Given the description of an element on the screen output the (x, y) to click on. 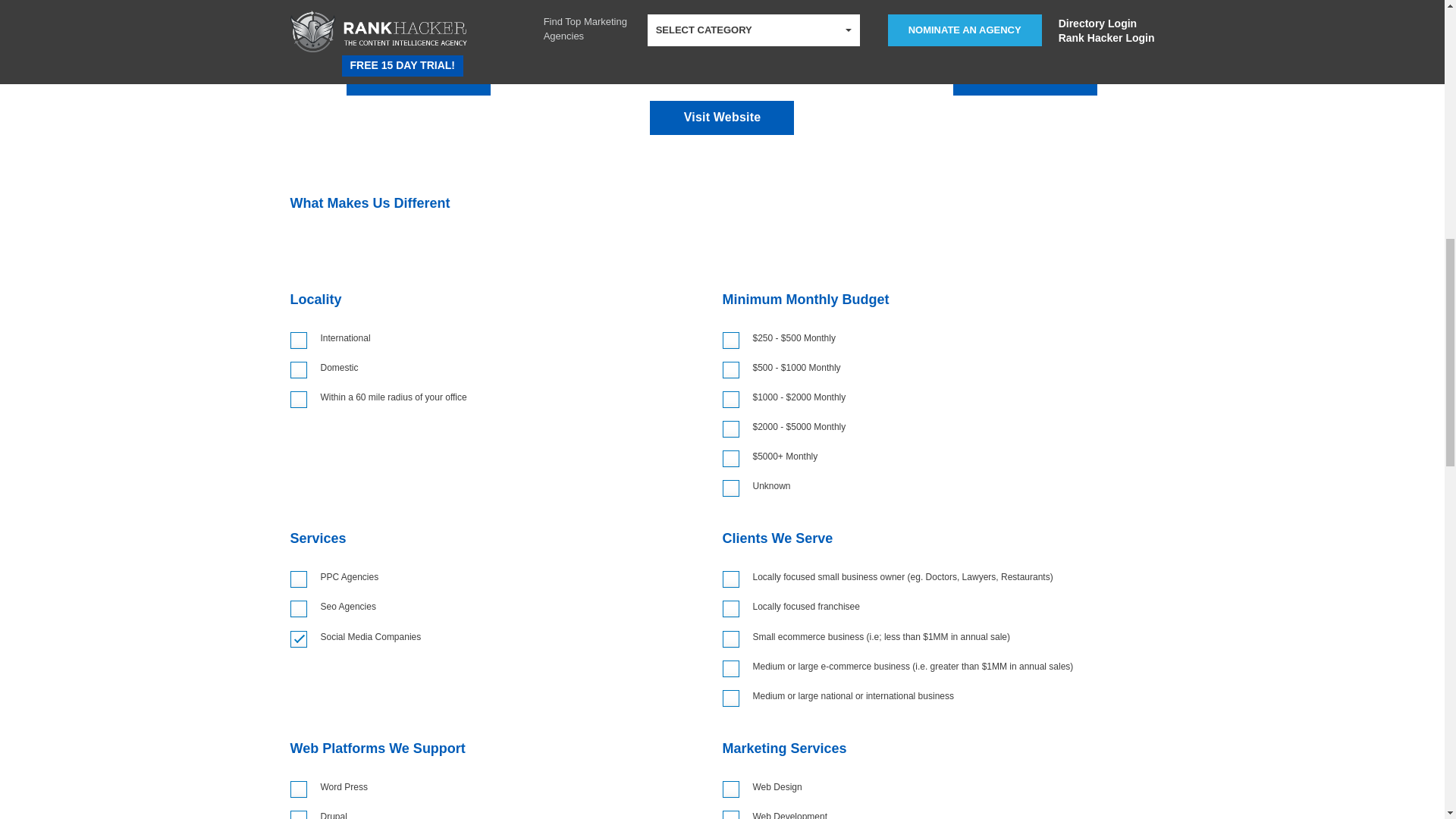
Visit Website (418, 78)
Visit Website (721, 117)
Visit Website (1025, 78)
